Given the description of an element on the screen output the (x, y) to click on. 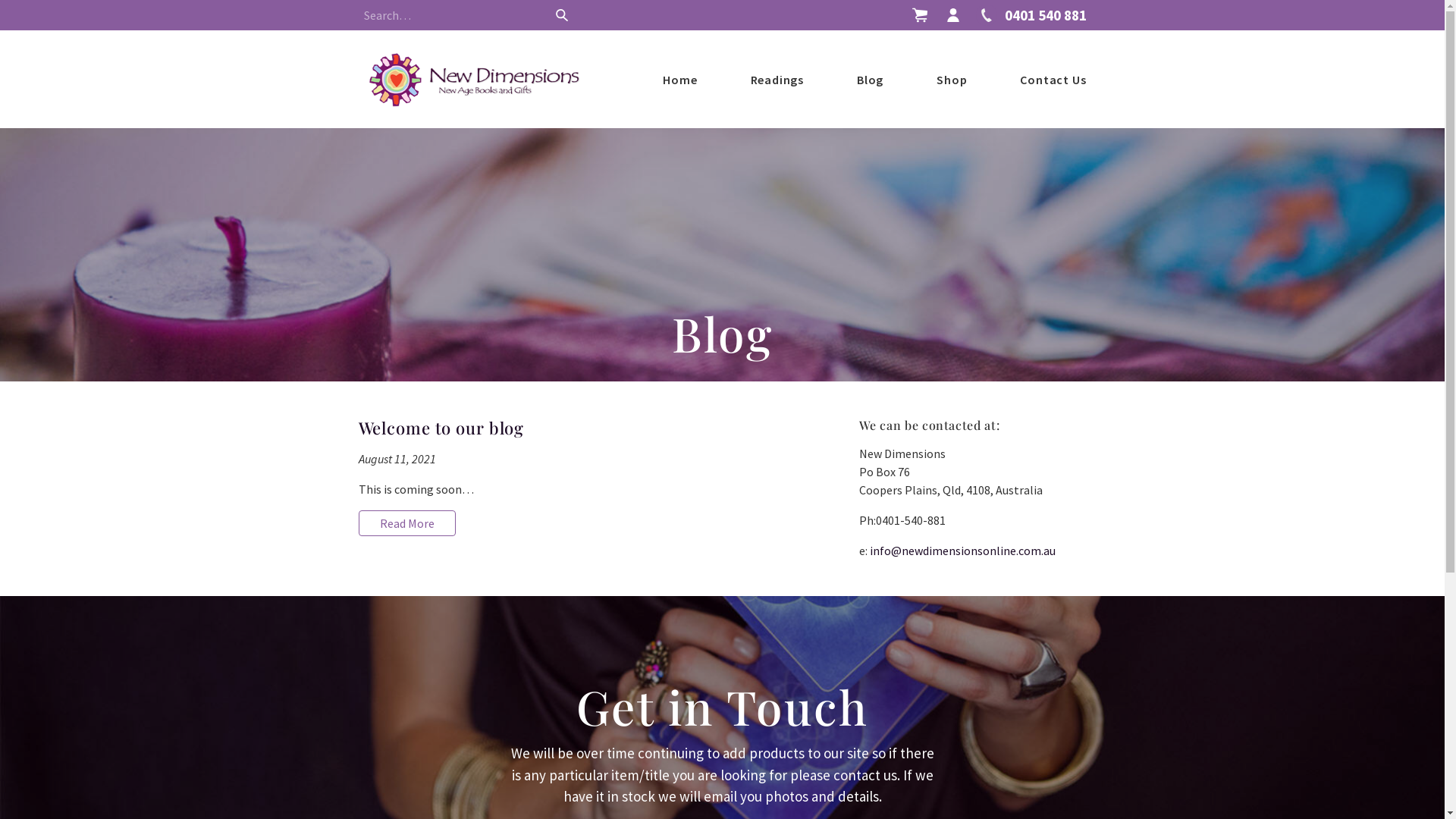
Readings Element type: text (776, 78)
My account Element type: hover (952, 14)
August 11, 2021 Element type: text (396, 458)
Welcome to our blog Element type: text (440, 427)
Shop Element type: text (951, 78)
View cart (0 items) Element type: hover (919, 14)
Blog Element type: text (869, 78)
Contact Us Element type: text (1052, 78)
0401 540 881 Element type: text (1030, 14)
Home Element type: text (679, 78)
Search Element type: hover (561, 15)
Read More Element type: text (406, 523)
info@newdimensionsonline.com.au Element type: text (961, 550)
